Given the description of an element on the screen output the (x, y) to click on. 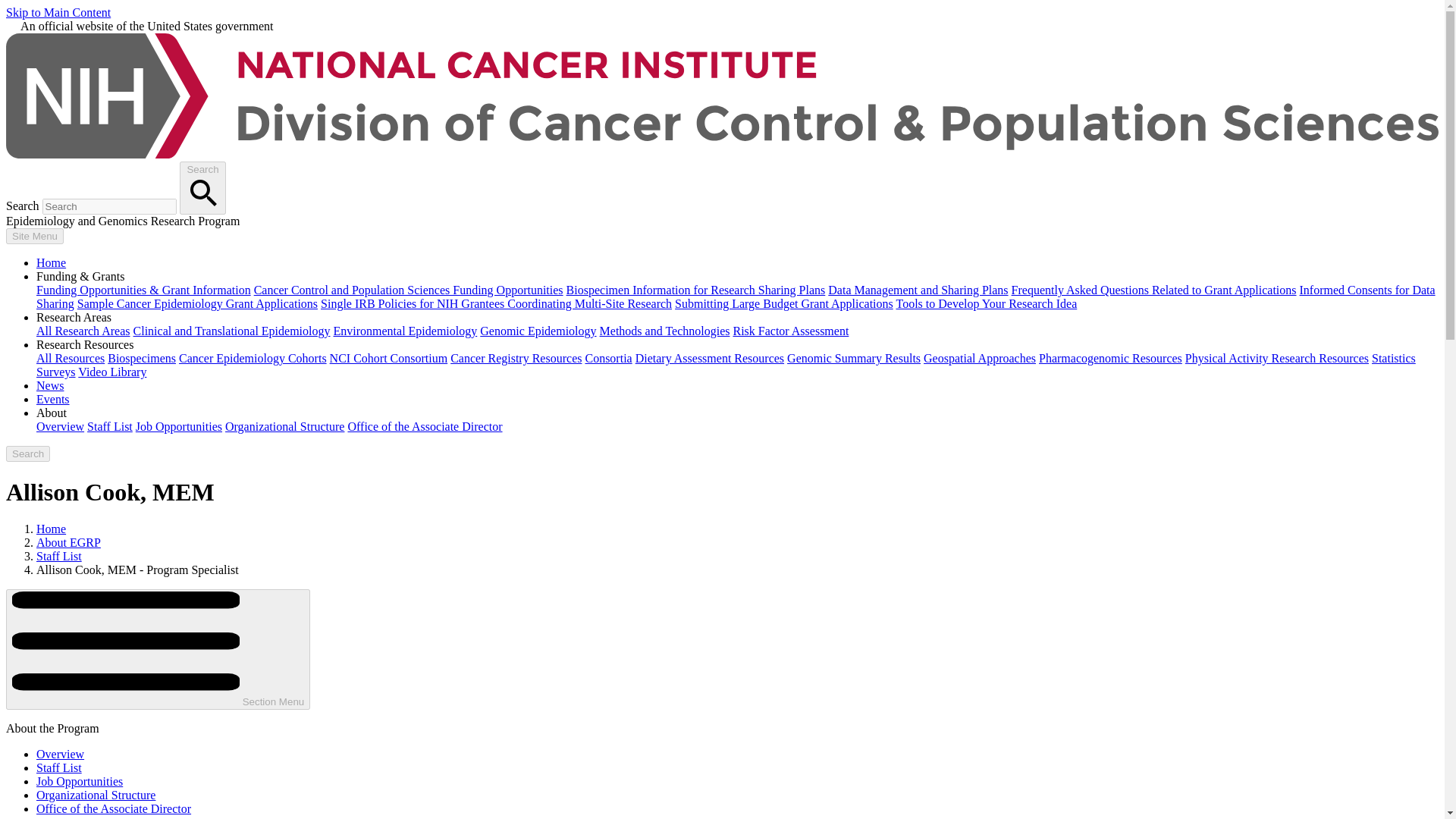
Tools to Develop Your Research Idea (986, 303)
Clinical and Translational Epidemiology (231, 330)
Data Management and Sharing Plans (917, 289)
Cancer Epidemiology Cohorts (252, 358)
Methods and Technologies (664, 330)
Pharmacogenomic Resources (1110, 358)
Submitting Large Budget Grant Applications (784, 303)
Home (50, 262)
Sample Cancer Epidemiology Grant Applications (197, 303)
Biospecimen Information for Research Sharing Plans (695, 289)
Research Areas (74, 317)
Surveys (55, 371)
Events (52, 399)
Skip to Main Content (57, 11)
Cancer Registry Resources (514, 358)
